Given the description of an element on the screen output the (x, y) to click on. 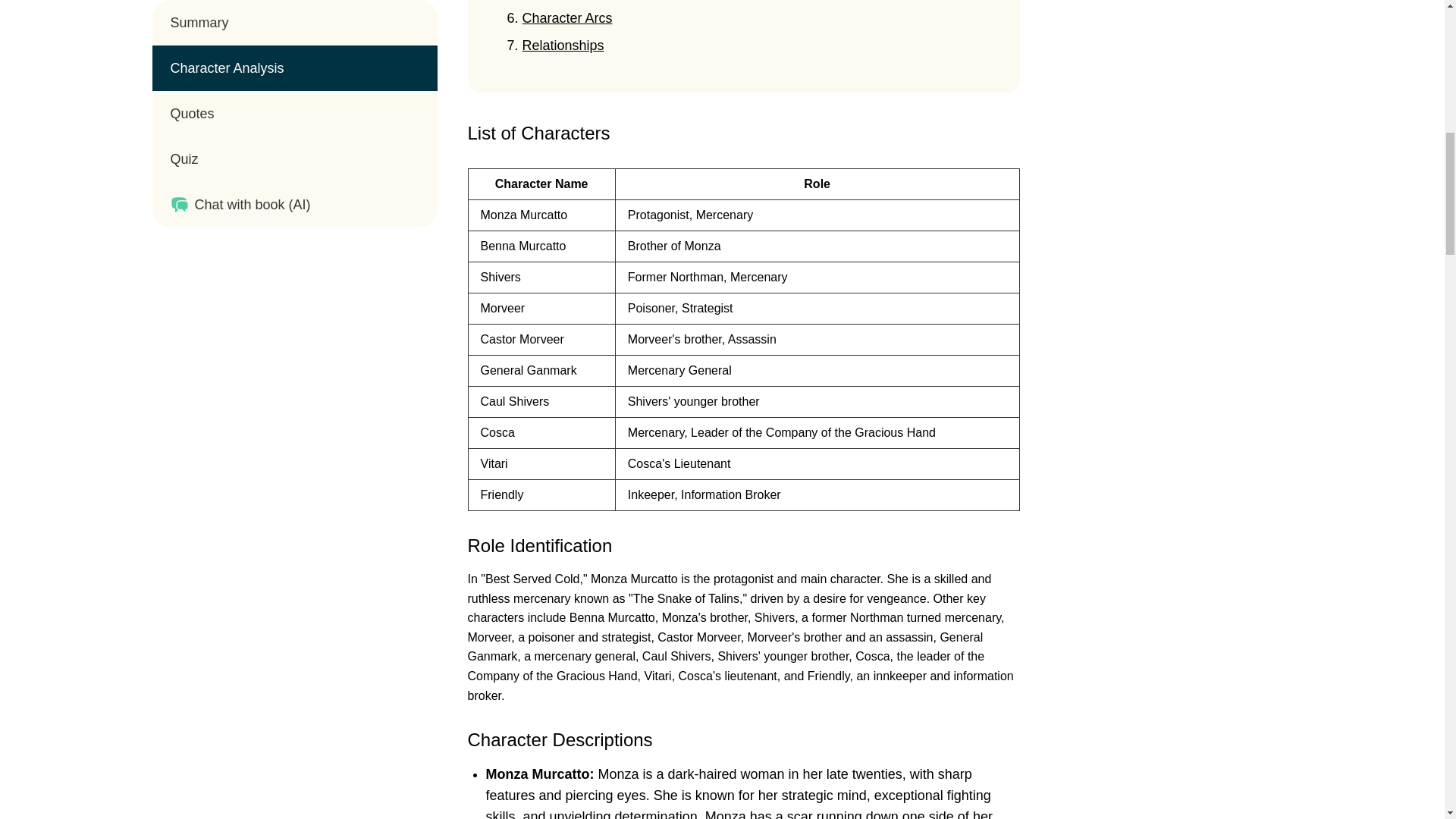
Character Descriptions (559, 739)
List of Characters (538, 132)
Role Identification (539, 545)
Relationships (562, 45)
Character Arcs (566, 17)
